Given the description of an element on the screen output the (x, y) to click on. 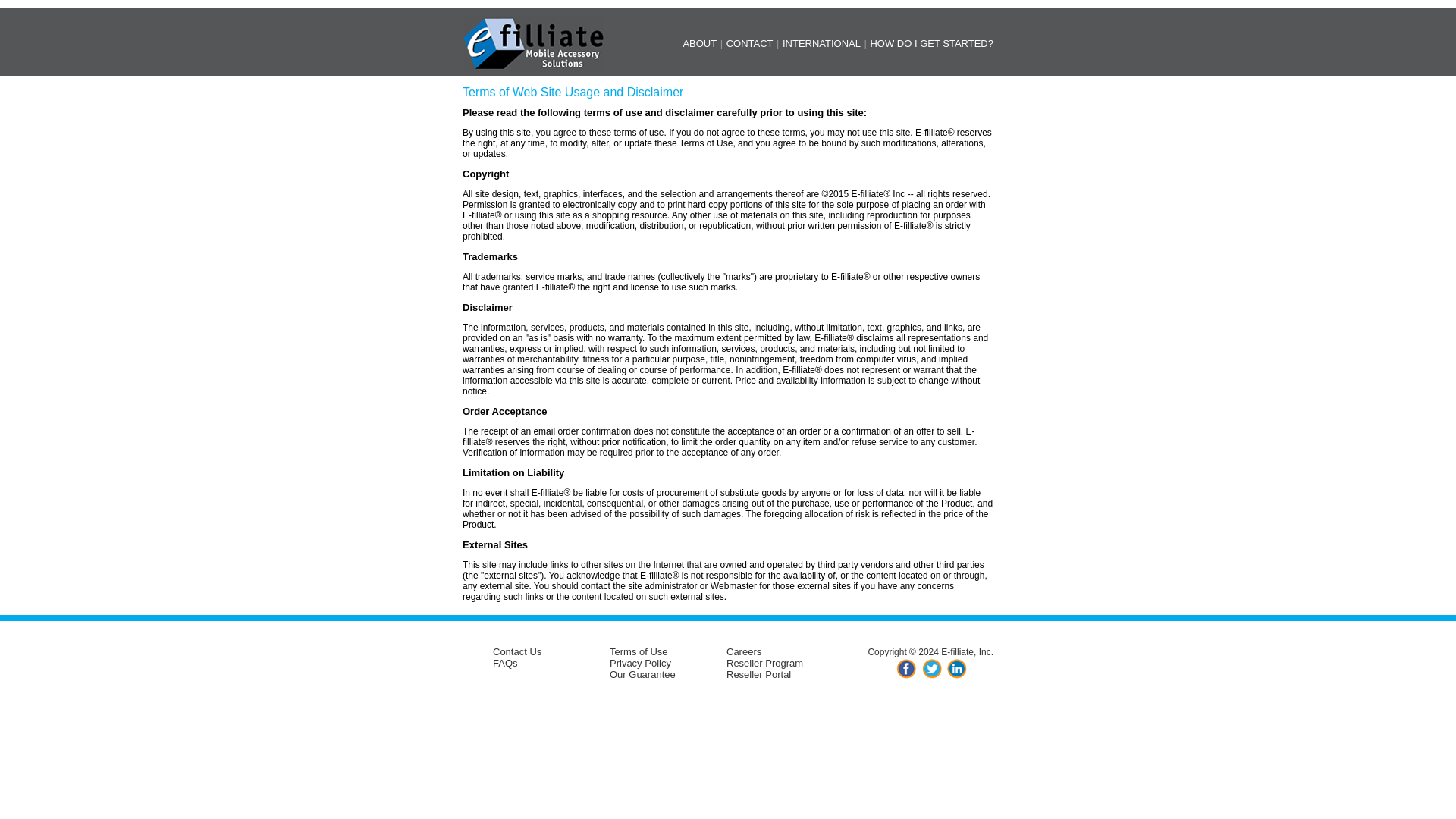
HOW DO I GET STARTED? (930, 43)
CONTACT (749, 43)
FAQs (505, 663)
Reseller Portal (758, 674)
INTERNATIONAL (821, 43)
Contact Us (517, 651)
Terms of Use (639, 651)
Careers (743, 651)
ABOUT (699, 43)
Privacy Policy (640, 663)
Our Guarantee (642, 674)
Reseller Program (764, 663)
